Given the description of an element on the screen output the (x, y) to click on. 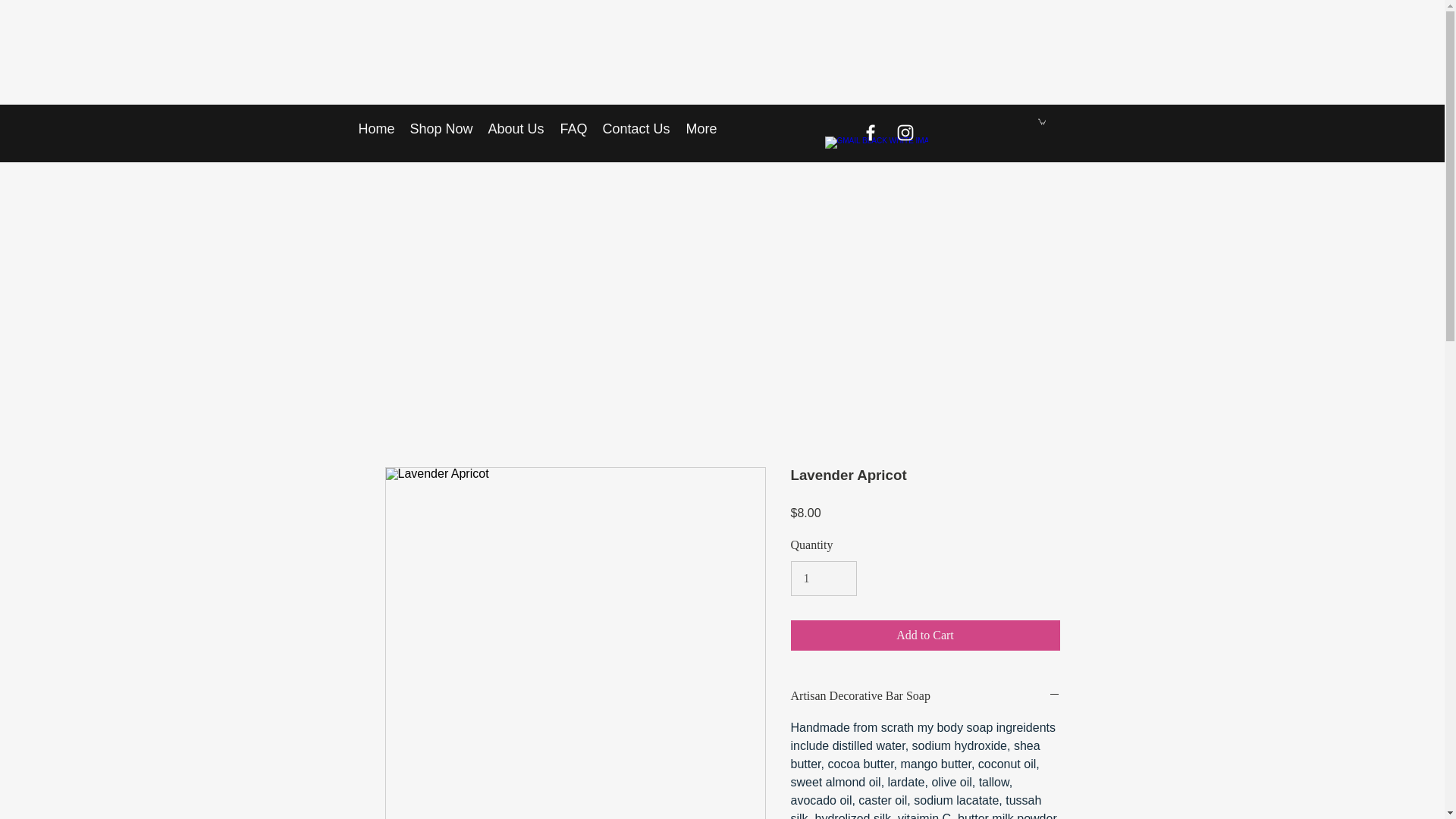
About Us (516, 128)
Shop Now (440, 128)
Contact Us (636, 128)
FAQ (572, 128)
1 (823, 578)
Artisan Decorative Bar Soap (924, 696)
Add to Cart (924, 634)
Home (375, 128)
